Given the description of an element on the screen output the (x, y) to click on. 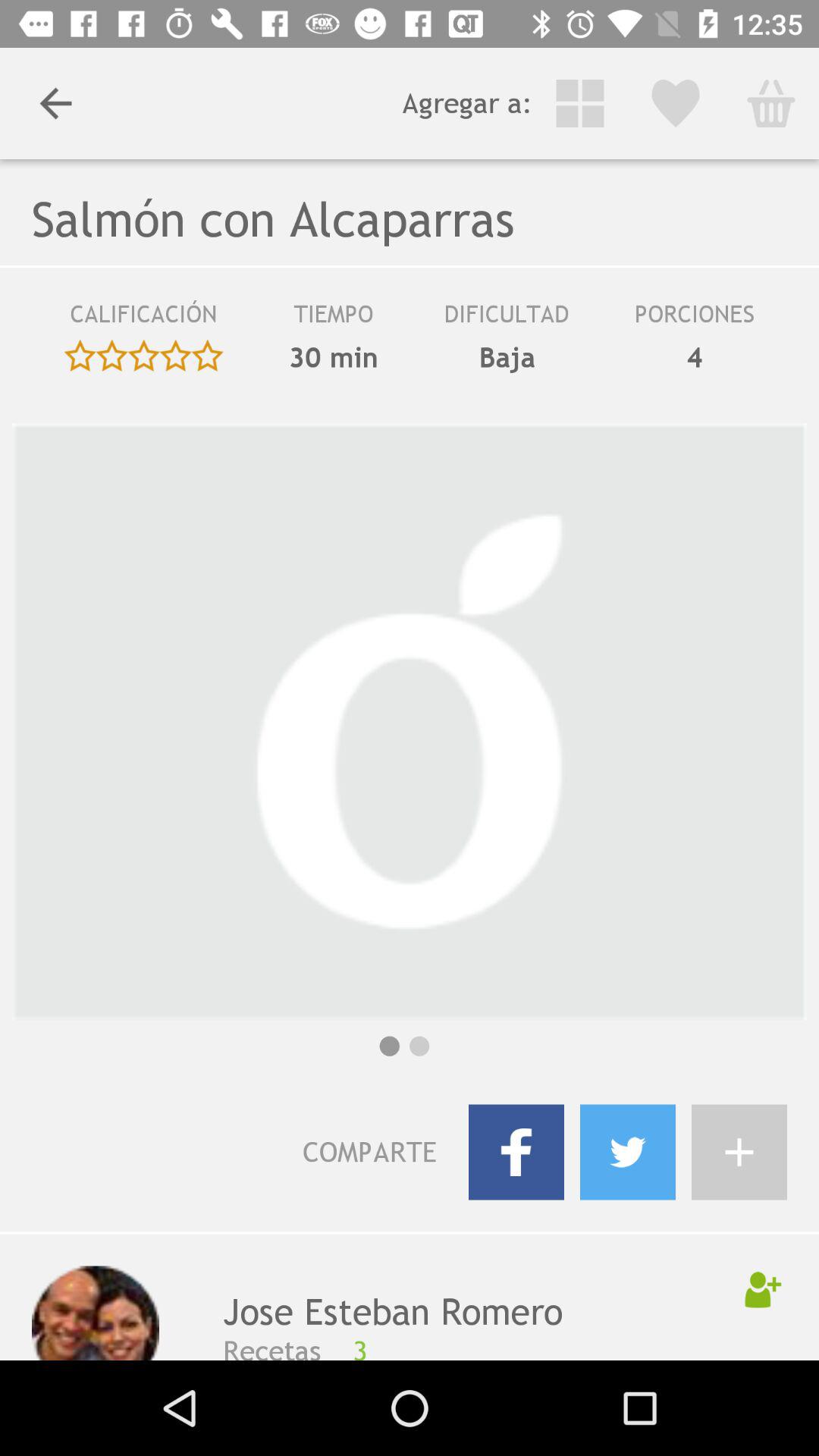
add acount (739, 1152)
